Given the description of an element on the screen output the (x, y) to click on. 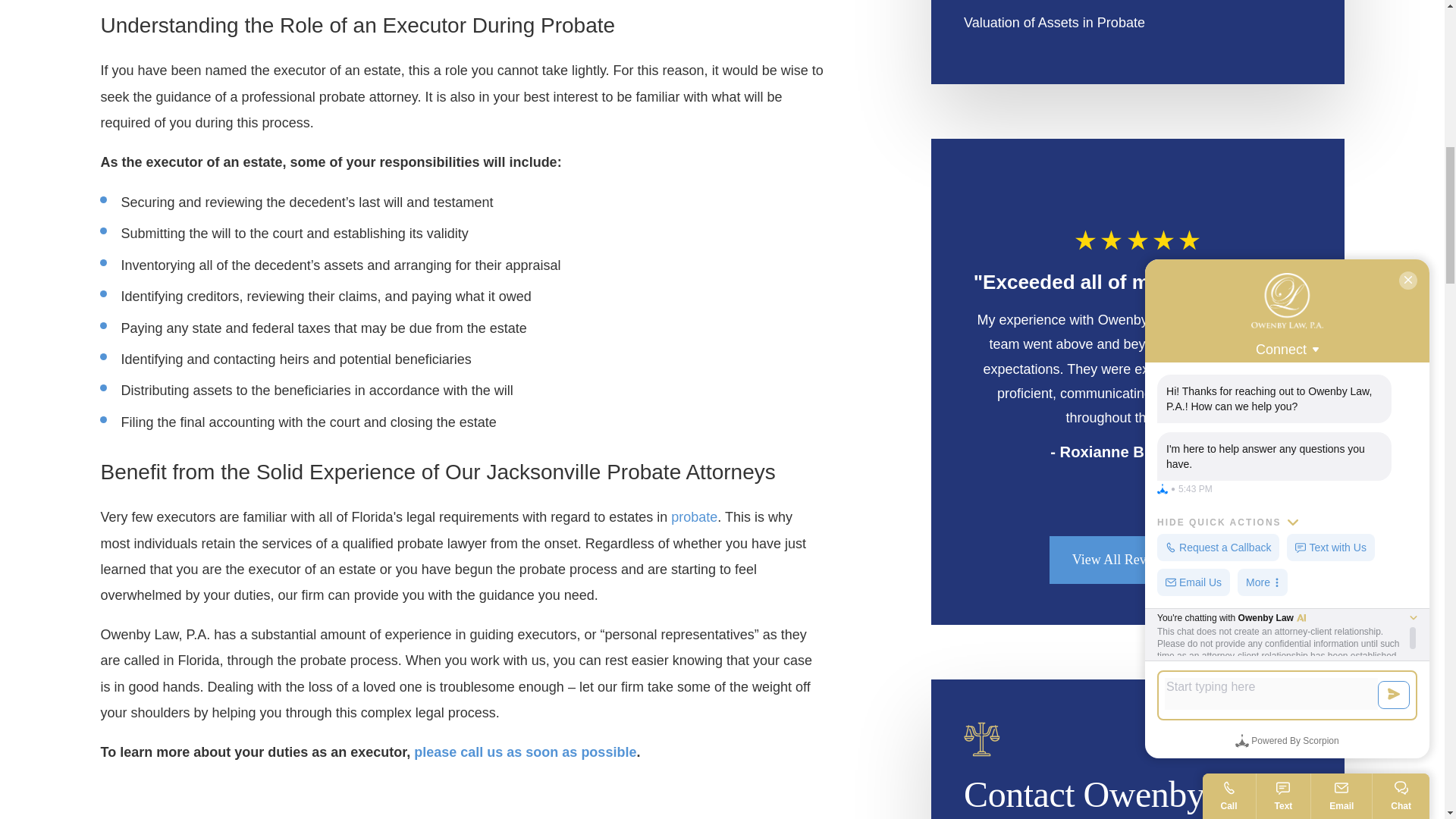
5 Star Rating (1137, 240)
